Given the description of an element on the screen output the (x, y) to click on. 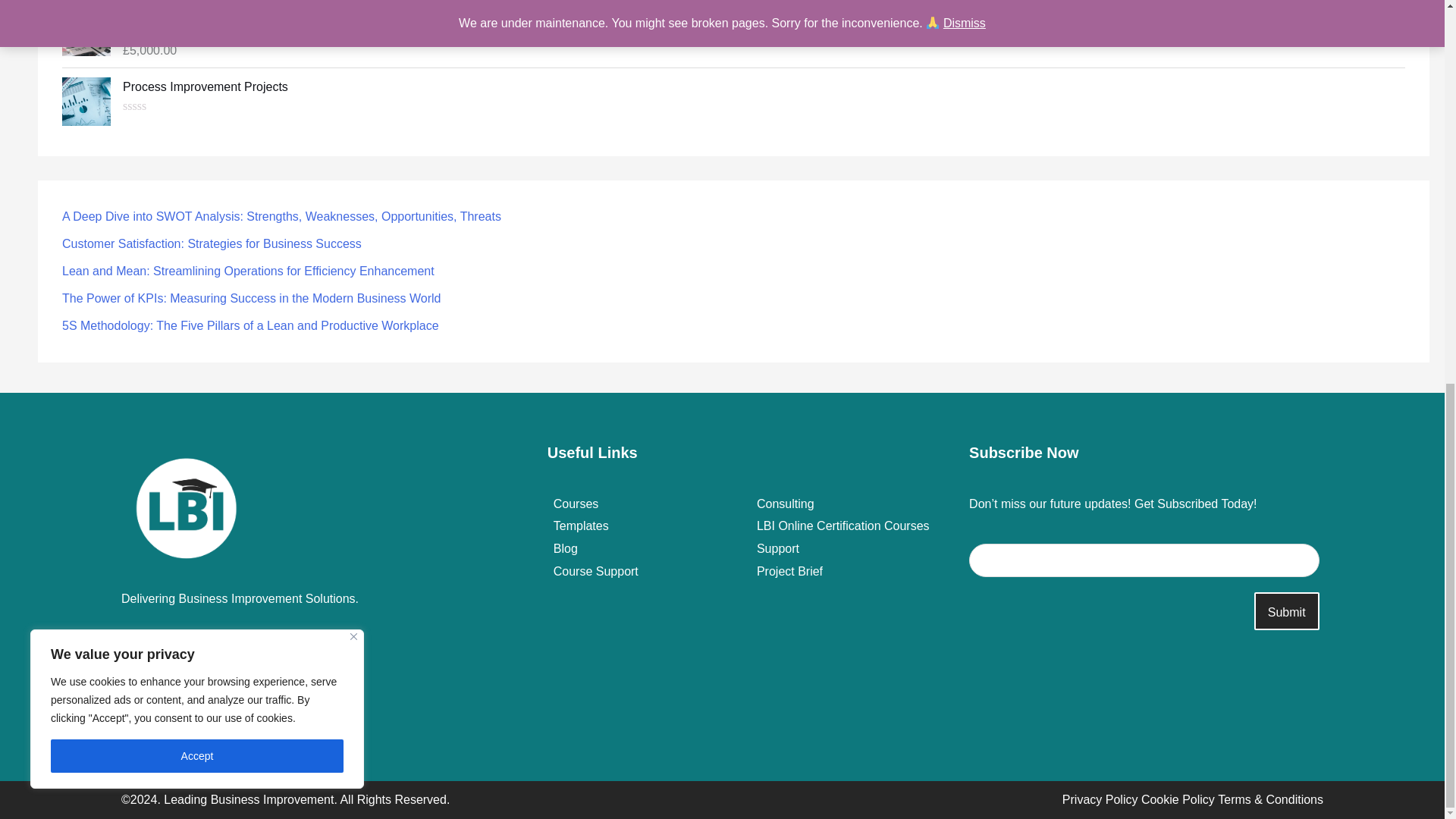
Process Improvement Projects (763, 86)
Customer Satisfaction: Strategies for Business Success (211, 242)
Operational Excellence Audit (763, 13)
Accept (196, 35)
